Given the description of an element on the screen output the (x, y) to click on. 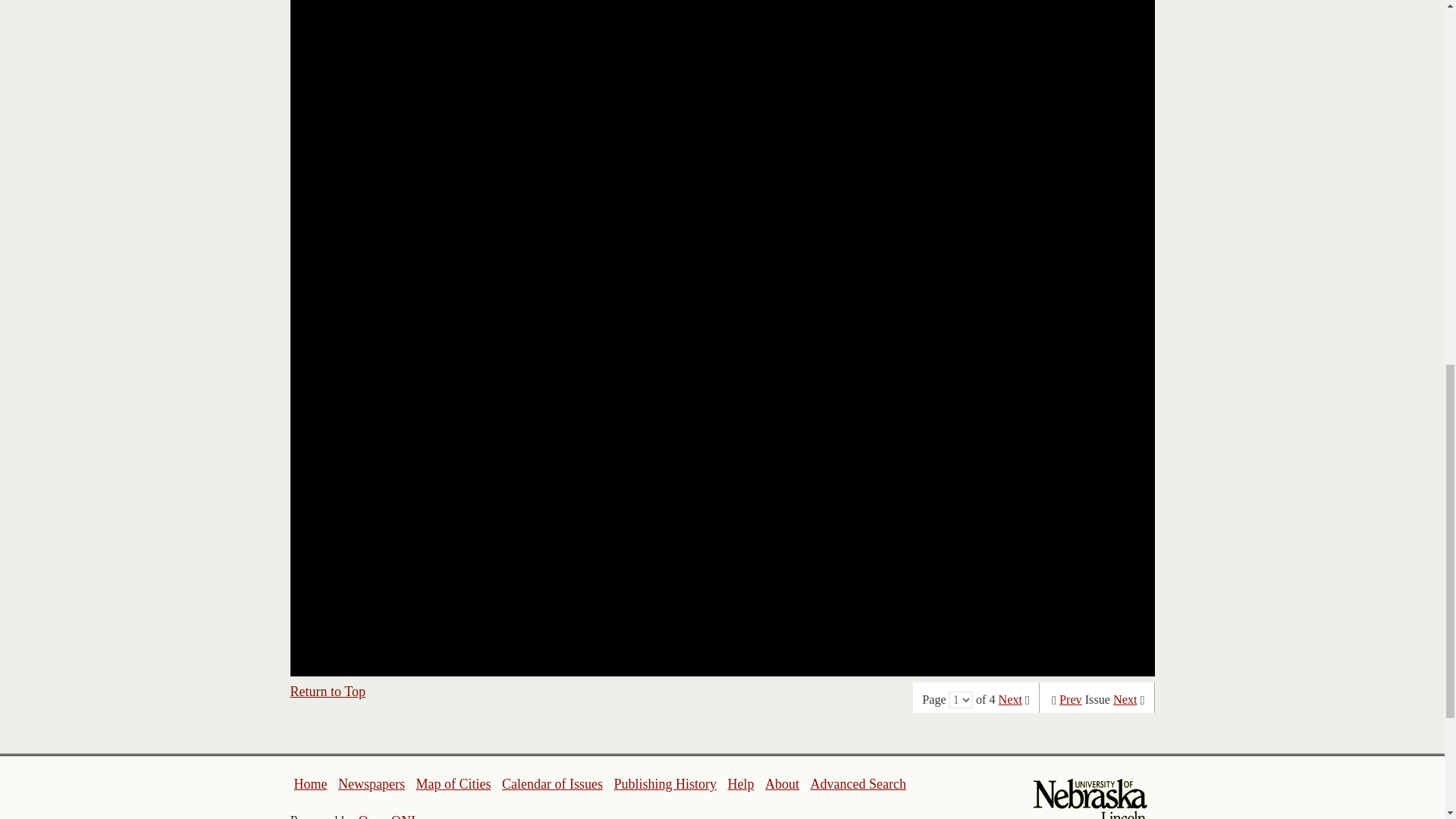
Home (310, 783)
Next (1125, 699)
Advanced Search (857, 783)
Publishing History (664, 783)
Help (740, 783)
About (782, 783)
Return to Top (327, 691)
Open ONI (386, 816)
Next (1010, 699)
Newspapers (370, 783)
